Given the description of an element on the screen output the (x, y) to click on. 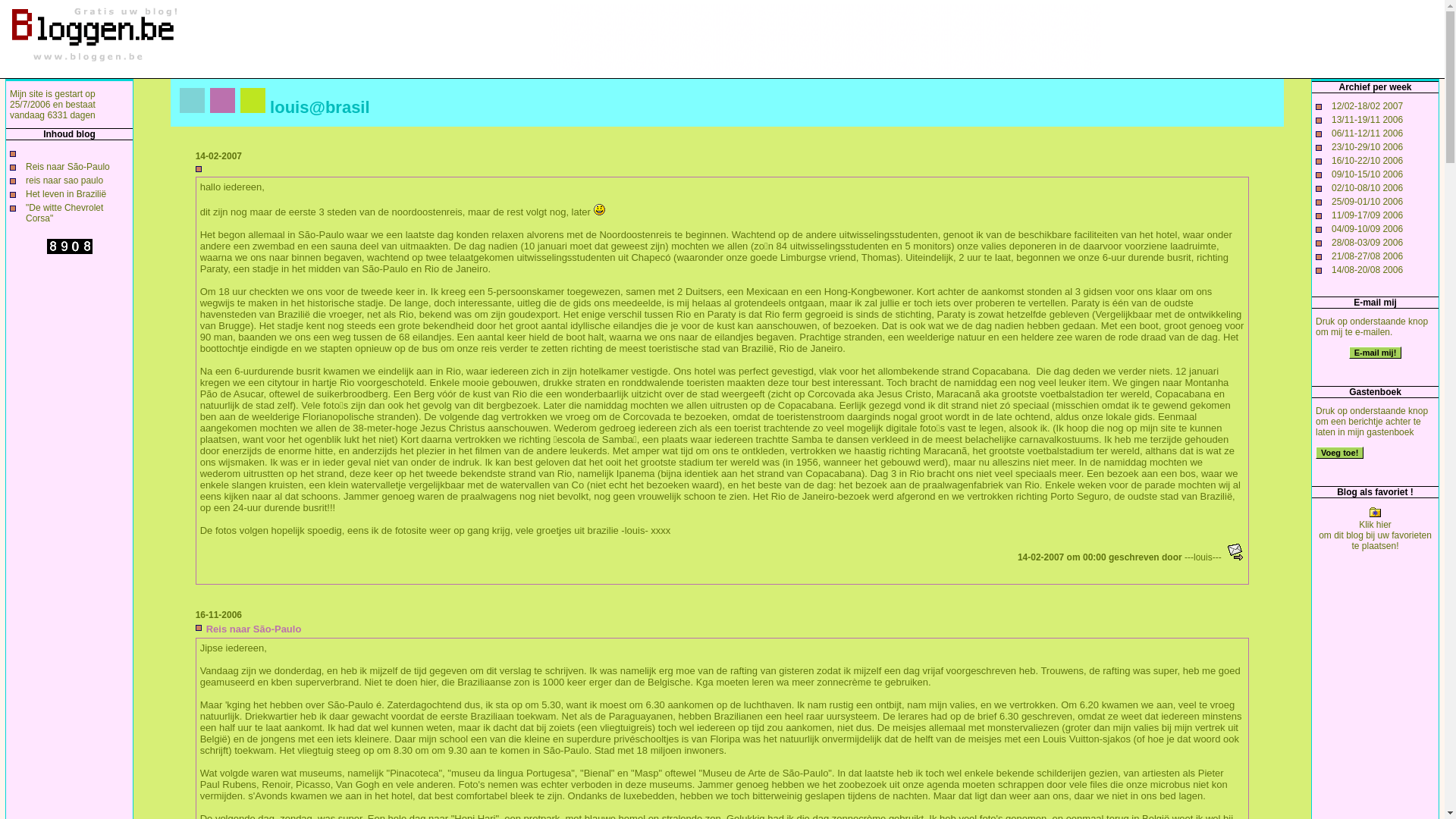
04/09-10/09 2006 Element type: text (1366, 228)
25/09-01/10 2006 Element type: text (1366, 201)
23/10-29/10 2006 Element type: text (1366, 146)
13/11-19/11 2006 Element type: text (1366, 119)
12/02-18/02 2007 Element type: text (1366, 105)
21/08-27/08 2006 Element type: text (1366, 256)
Voeg toe! Element type: text (1339, 452)
14/08-20/08 2006 Element type: text (1366, 269)
06/11-12/11 2006 Element type: text (1366, 133)
28/08-03/09 2006 Element type: text (1366, 242)
"De witte Chevrolet Corsa" Element type: text (64, 212)
---louis--- Element type: text (1202, 557)
16/10-22/10 2006 Element type: text (1366, 160)
3rd party ad content Element type: hover (825, 37)
09/10-15/10 2006 Element type: text (1366, 174)
11/09-17/09 2006 Element type: text (1366, 215)
Klik hier
om dit blog bij uw favorieten te plaatsen! Element type: text (1374, 531)
02/10-08/10 2006 Element type: text (1366, 187)
E-mail mij! Element type: text (1375, 352)
reis naar sao paulo Element type: text (64, 180)
